Given the description of an element on the screen output the (x, y) to click on. 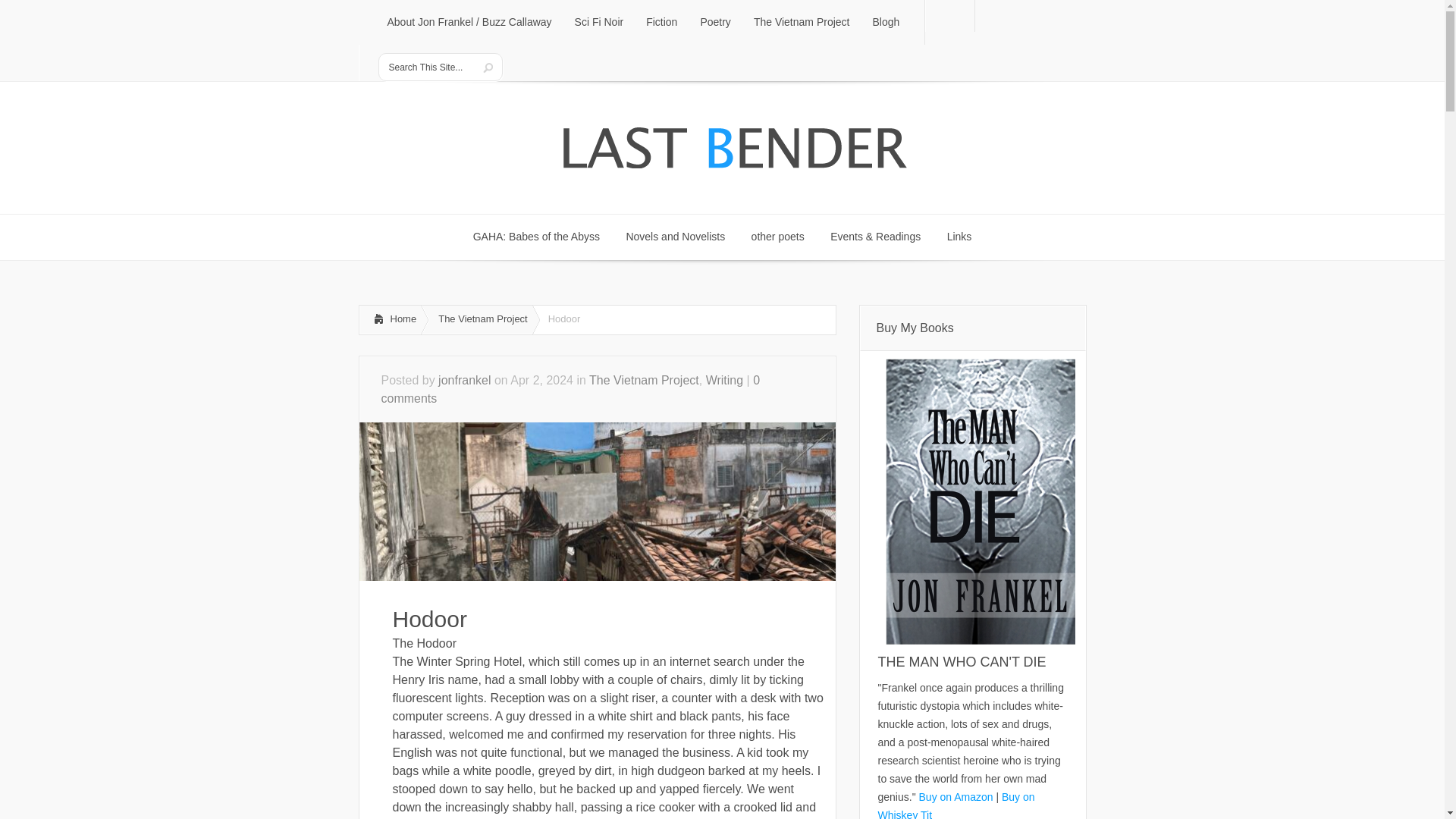
The Vietnam Project (643, 379)
Fiction (661, 22)
Blogh (885, 22)
Poetry (714, 22)
Sci Fi Noir (598, 22)
Writing (725, 379)
Posts by jonfrankel (464, 379)
0 comments (570, 388)
jonfrankel (464, 379)
Search This Site... (777, 236)
Buy on Amazon (427, 67)
Buy on Whiskey Tit (675, 236)
